Given the description of an element on the screen output the (x, y) to click on. 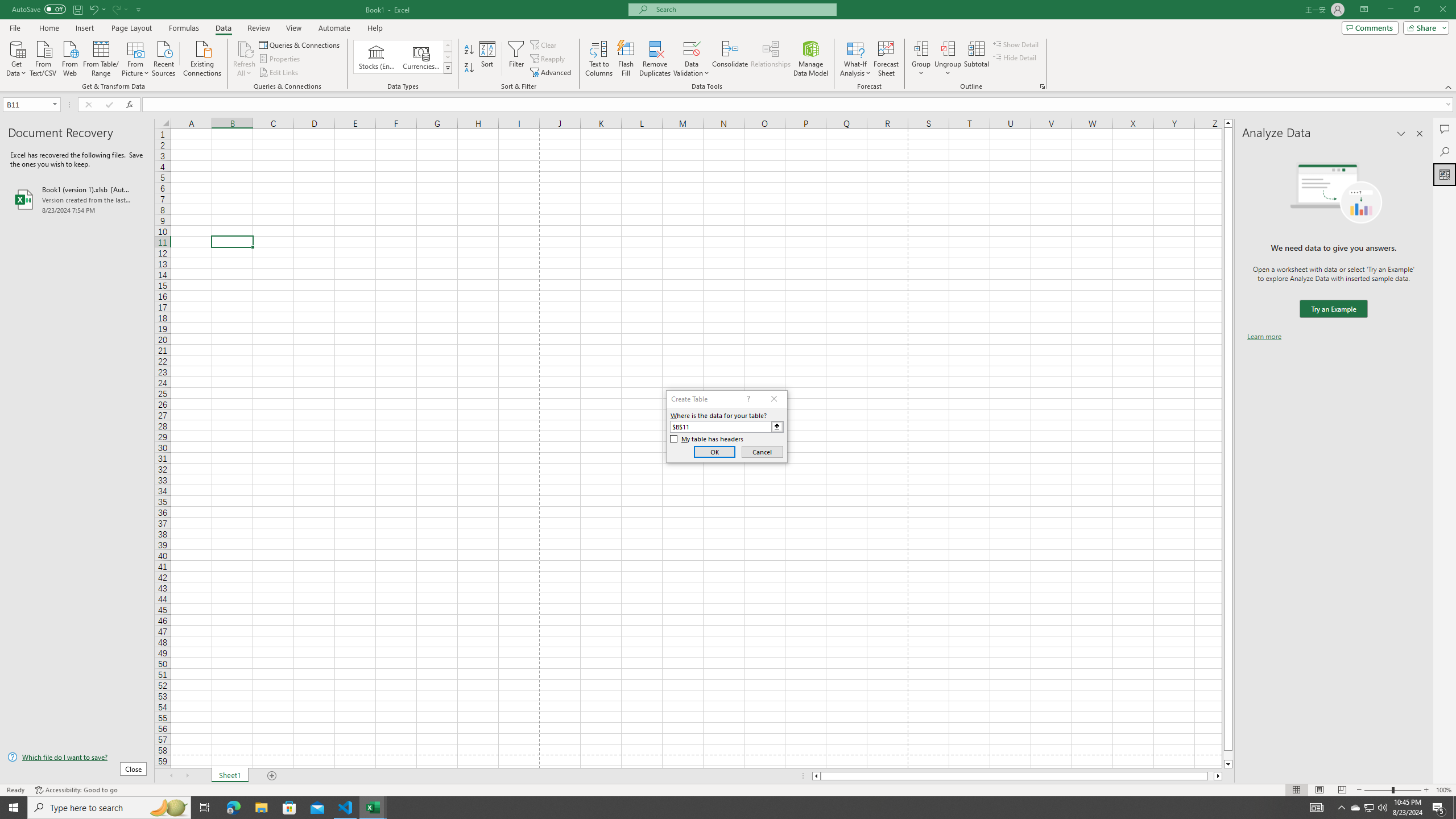
Sort... (487, 58)
AutomationID: ConvertToLinkedEntity (403, 56)
Learn more (1264, 336)
Existing Connections (202, 57)
Queries & Connections (300, 44)
